Given the description of an element on the screen output the (x, y) to click on. 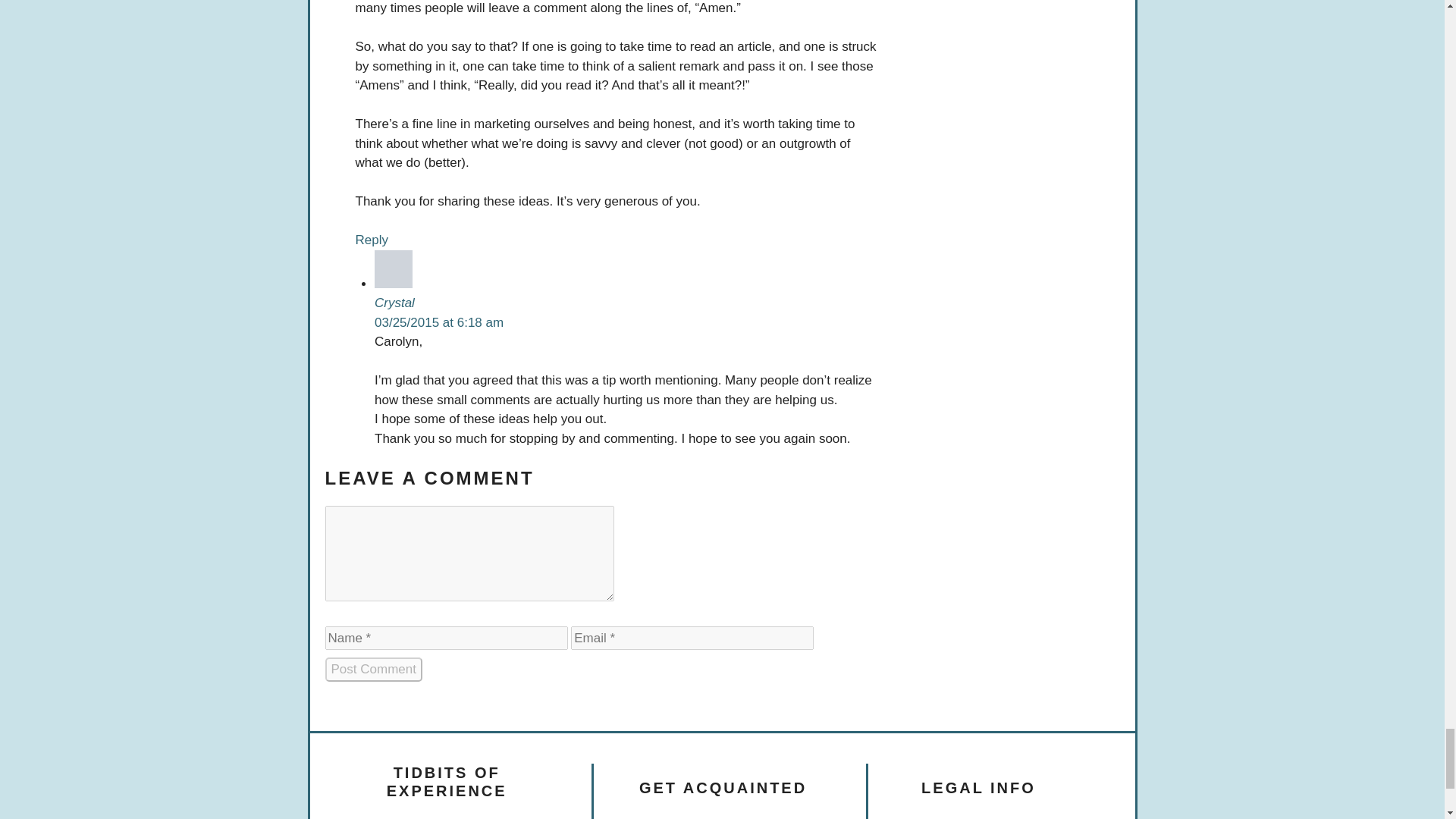
Post Comment (373, 669)
